Given the description of an element on the screen output the (x, y) to click on. 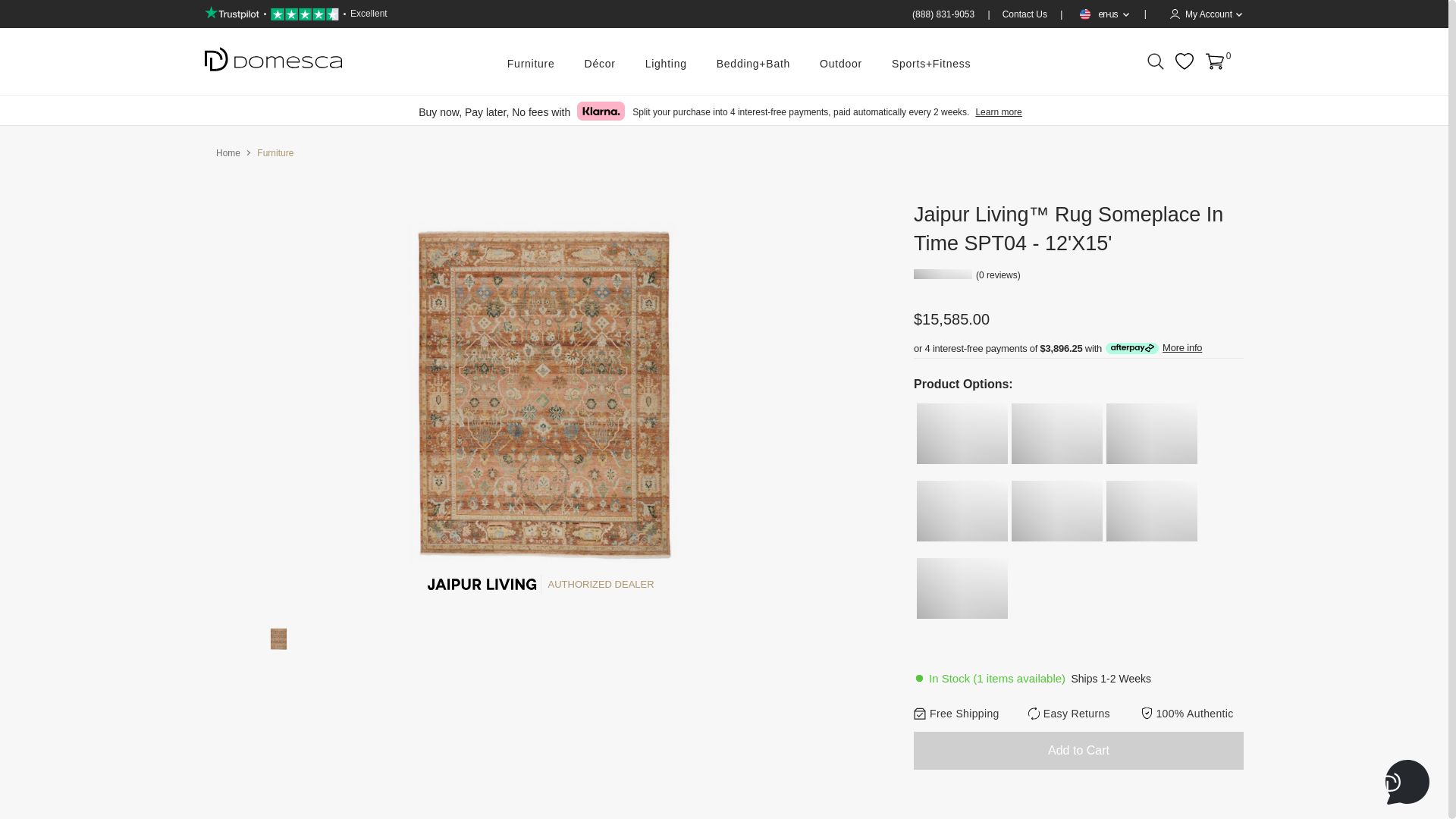
Furniture (530, 64)
en-us (1102, 13)
Jaipur Living Authorized Dealer (482, 583)
Excellent (296, 13)
Contact Us (1026, 14)
Add to Cart (1078, 750)
English (1085, 14)
